Given the description of an element on the screen output the (x, y) to click on. 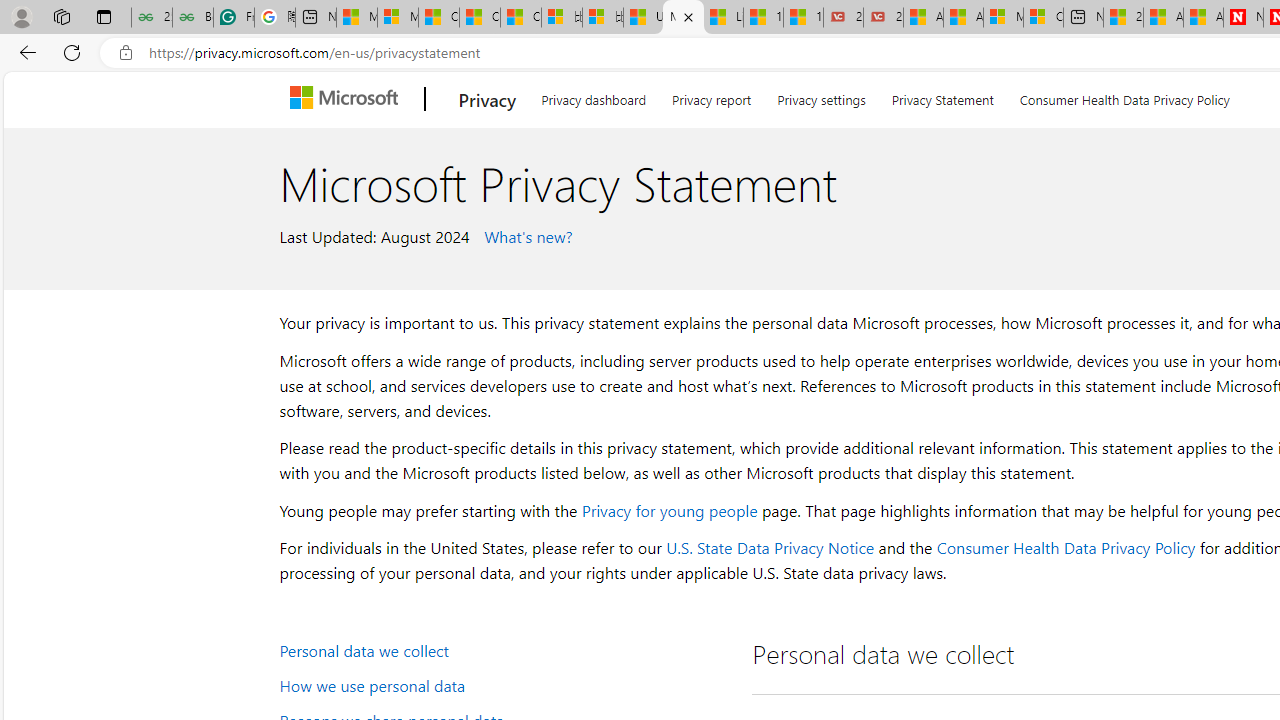
Cloud Computing Services | Microsoft Azure (1043, 17)
Lifestyle - MSN (723, 17)
Privacy dashboard (593, 96)
Newsweek - News, Analysis, Politics, Business, Technology (1243, 17)
Privacy dashboard (593, 96)
USA TODAY - MSN (643, 17)
Privacy settings (821, 96)
